Given the description of an element on the screen output the (x, y) to click on. 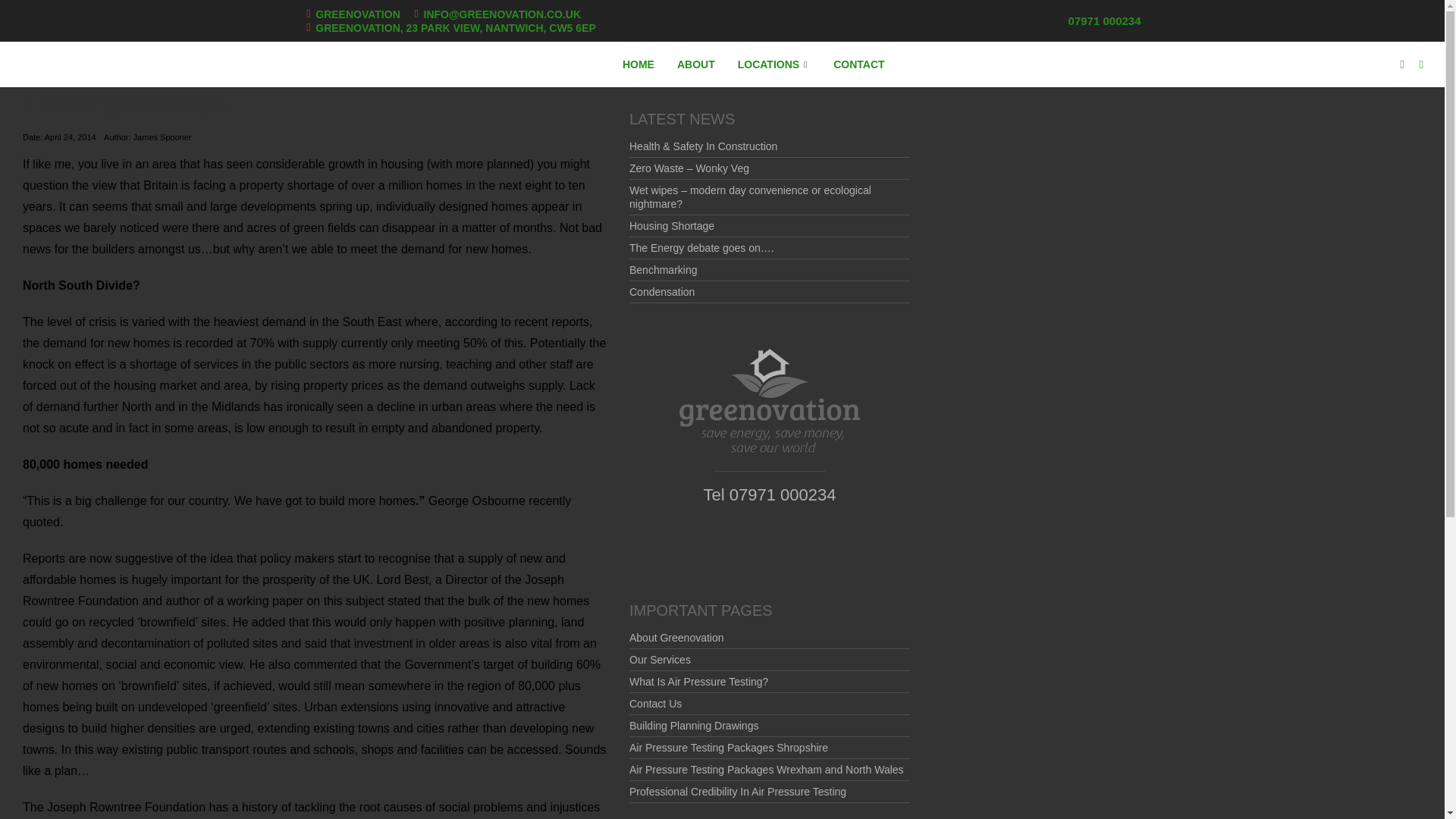
About Greenovation (675, 637)
Read about our Building Planning Drawings Service (693, 725)
Read about the Services we provide (659, 659)
James Spooner (162, 136)
HOME (638, 63)
What Is Air Pressure Testing? (698, 681)
Building Planning Drawings (693, 725)
LOCATIONS (774, 63)
Air Pressure Testing Explained (698, 681)
Housing Shortage (671, 225)
About Us (675, 637)
Contact Us (654, 703)
ABOUT (695, 63)
Read About Our Shropshire Service (728, 747)
Air Pressure Testing Packages Shropshire (728, 747)
